Given the description of an element on the screen output the (x, y) to click on. 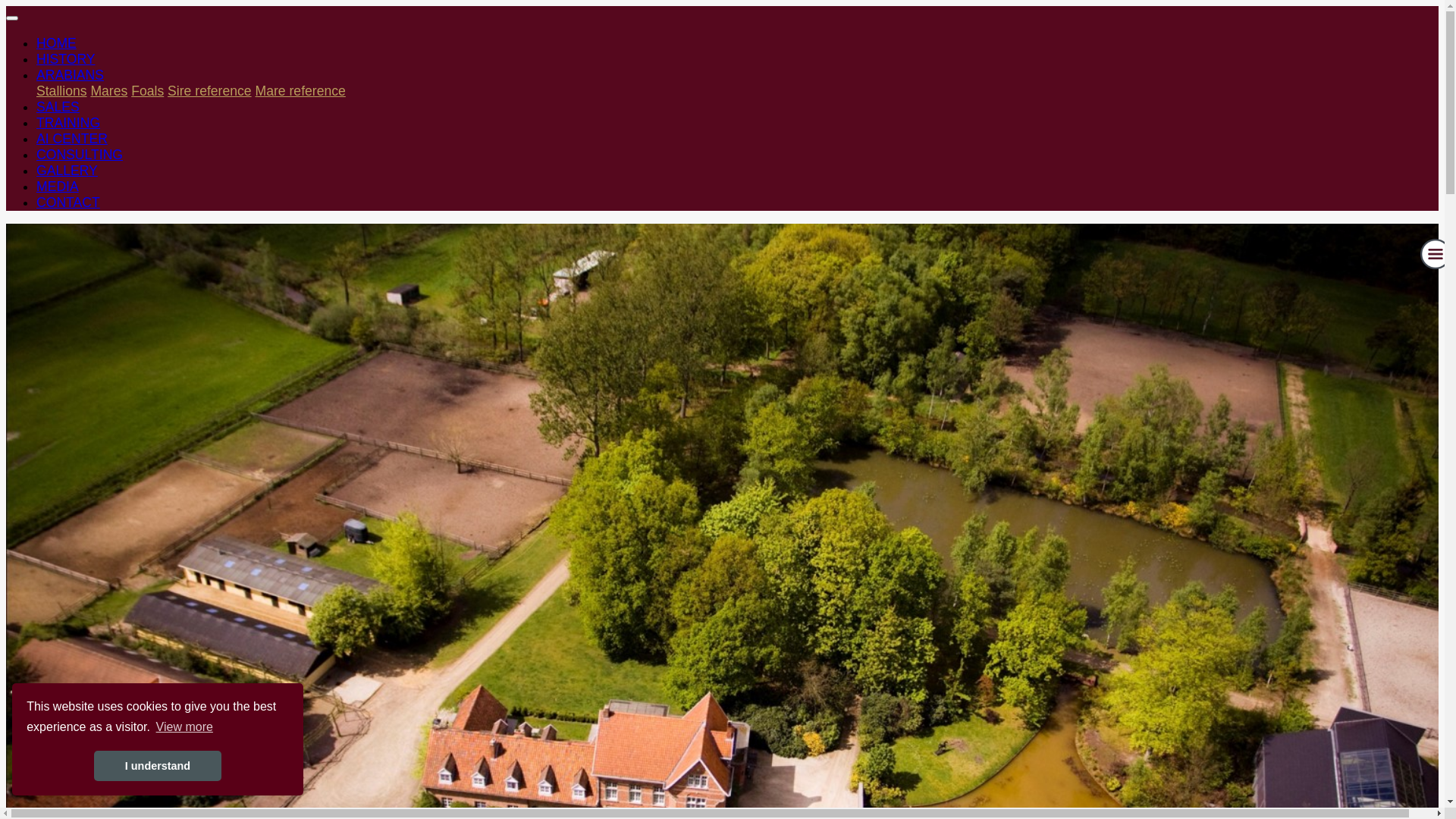
CONTACT Element type: text (68, 202)
I understand Element type: text (157, 765)
Foals Element type: text (147, 90)
AI CENTER Element type: text (71, 138)
ARABIANS Element type: text (69, 74)
Mare reference Element type: text (300, 90)
View more Element type: text (184, 726)
HISTORY Element type: text (65, 58)
Sire reference Element type: text (209, 90)
GALLERY Element type: text (66, 170)
HOME Element type: text (56, 42)
TRAINING Element type: text (68, 122)
Mares Element type: text (108, 90)
SALES Element type: text (57, 106)
CONSULTING Element type: text (79, 154)
Stallions Element type: text (61, 90)
MEDIA Element type: text (57, 186)
